Given the description of an element on the screen output the (x, y) to click on. 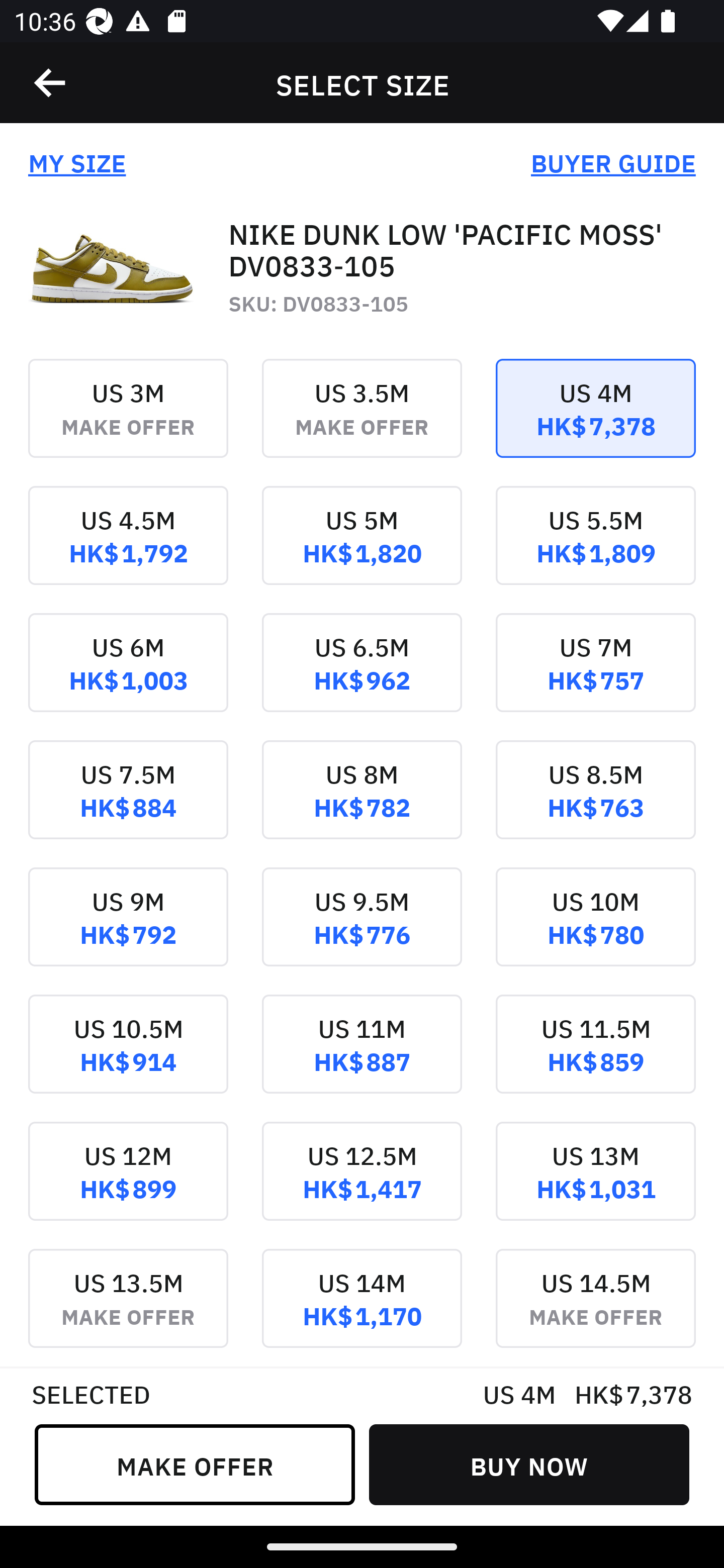
 (50, 83)
US 3M MAKE OFFER (128, 422)
US 3.5M MAKE OFFER (361, 422)
US 4M HK$ 7,378 (595, 422)
US 4.5M HK$ 1,792 (128, 549)
US 5M HK$ 1,820 (361, 549)
US 5.5M HK$ 1,809 (595, 549)
US 6M HK$ 1,003 (128, 676)
US 6.5M HK$ 962 (361, 676)
US 7M HK$ 757 (595, 676)
US 7.5M HK$ 884 (128, 803)
US 8M HK$ 782 (361, 803)
US 8.5M HK$ 763 (595, 803)
US 9M HK$ 792 (128, 930)
US 9.5M HK$ 776 (361, 930)
US 10M HK$ 780 (595, 930)
US 10.5M HK$ 914 (128, 1057)
US 11M HK$ 887 (361, 1057)
US 11.5M HK$ 859 (595, 1057)
US 12M HK$ 899 (128, 1184)
US 12.5M HK$ 1,417 (361, 1184)
US 13M HK$ 1,031 (595, 1184)
US 13.5M MAKE OFFER (128, 1306)
US 14M HK$ 1,170 (361, 1306)
US 14.5M MAKE OFFER (595, 1306)
MAKE OFFER (194, 1464)
BUY NOW (529, 1464)
